Given the description of an element on the screen output the (x, y) to click on. 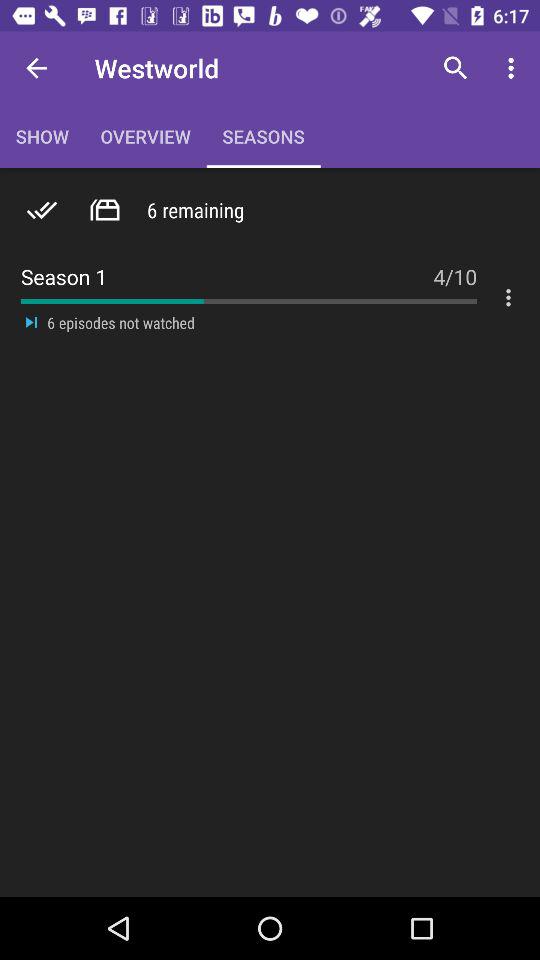
turn off the icon above the season 1 item (41, 209)
